Given the description of an element on the screen output the (x, y) to click on. 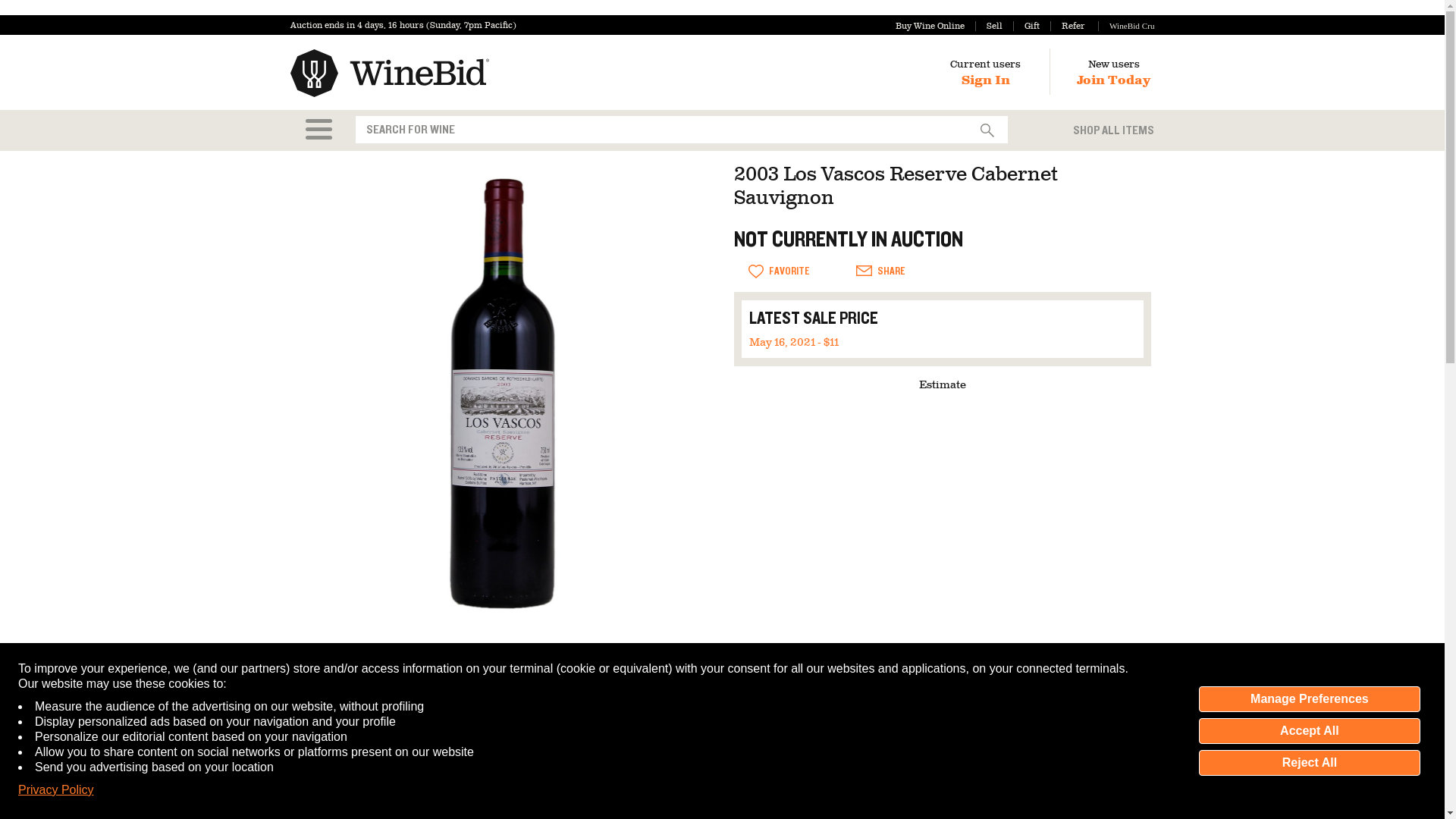
WineBid Cru (1125, 26)
Privacy Policy (55, 789)
Join Today (1113, 79)
Sell (989, 26)
Accept All (1309, 730)
Gift (1026, 26)
Refer (1066, 26)
Reject All (1309, 762)
Sign In (985, 79)
Manage Preferences (1309, 698)
